Given the description of an element on the screen output the (x, y) to click on. 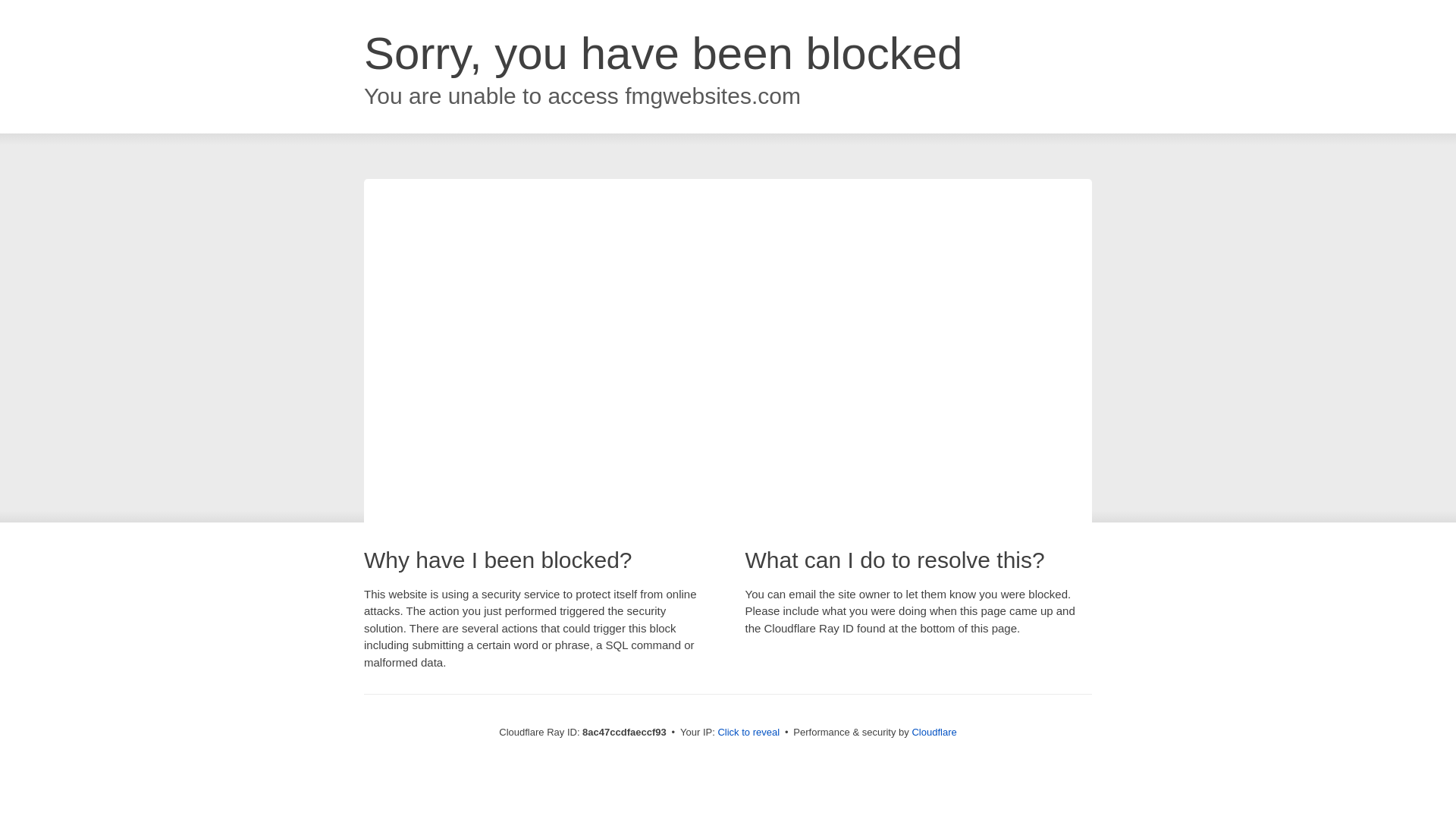
Click to reveal (747, 732)
Cloudflare (933, 731)
